Given the description of an element on the screen output the (x, y) to click on. 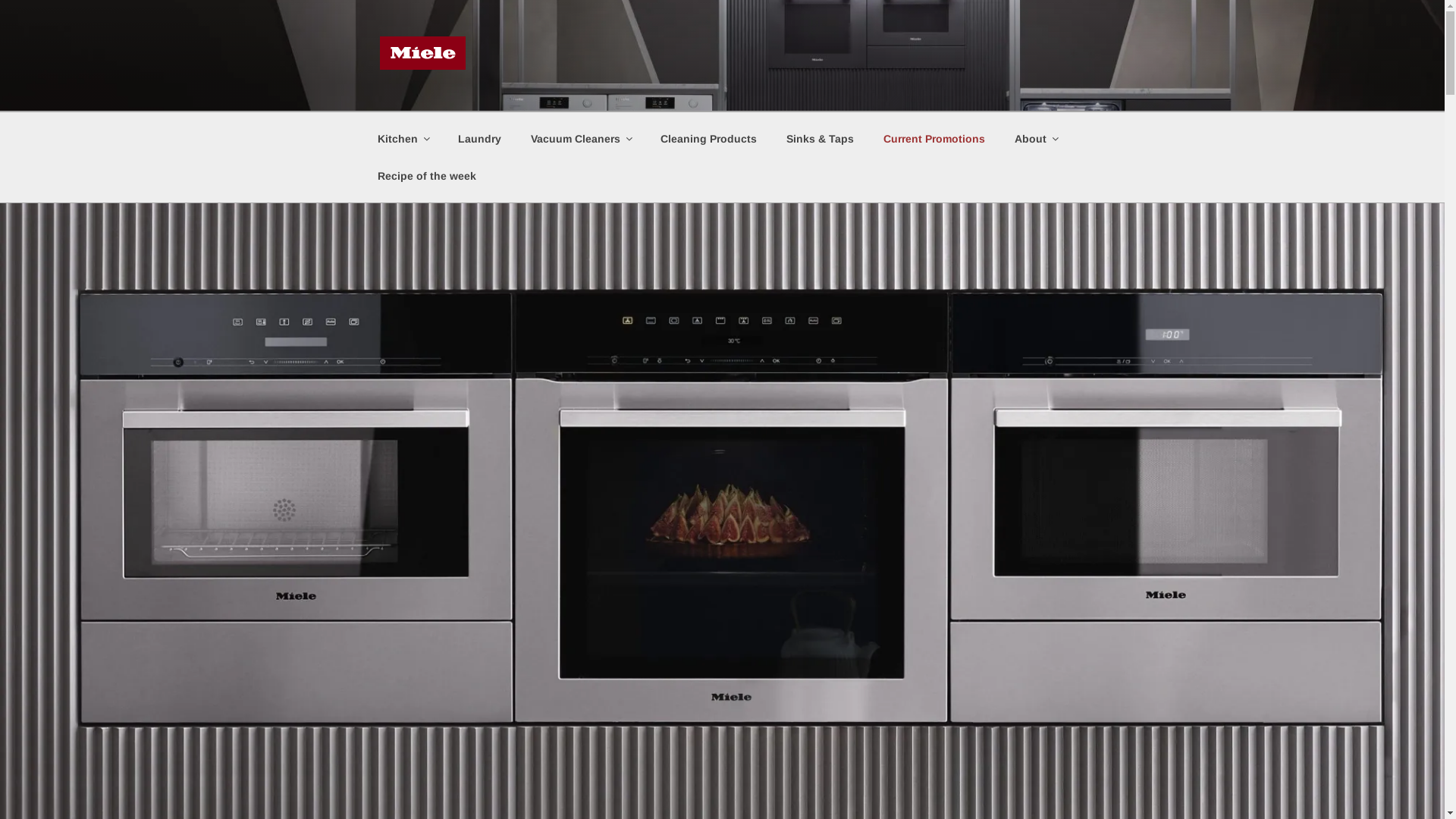
Cleaning Products Element type: text (708, 137)
Recipe of the week Element type: text (426, 175)
Vacuum Cleaners Element type: text (580, 137)
Sinks & Taps Element type: text (820, 137)
MIELE SPECIALIST BING LEE Element type: text (709, 101)
About Element type: text (1035, 137)
Kitchen Element type: text (402, 137)
Laundry Element type: text (479, 137)
Current Promotions Element type: text (934, 137)
